Given the description of an element on the screen output the (x, y) to click on. 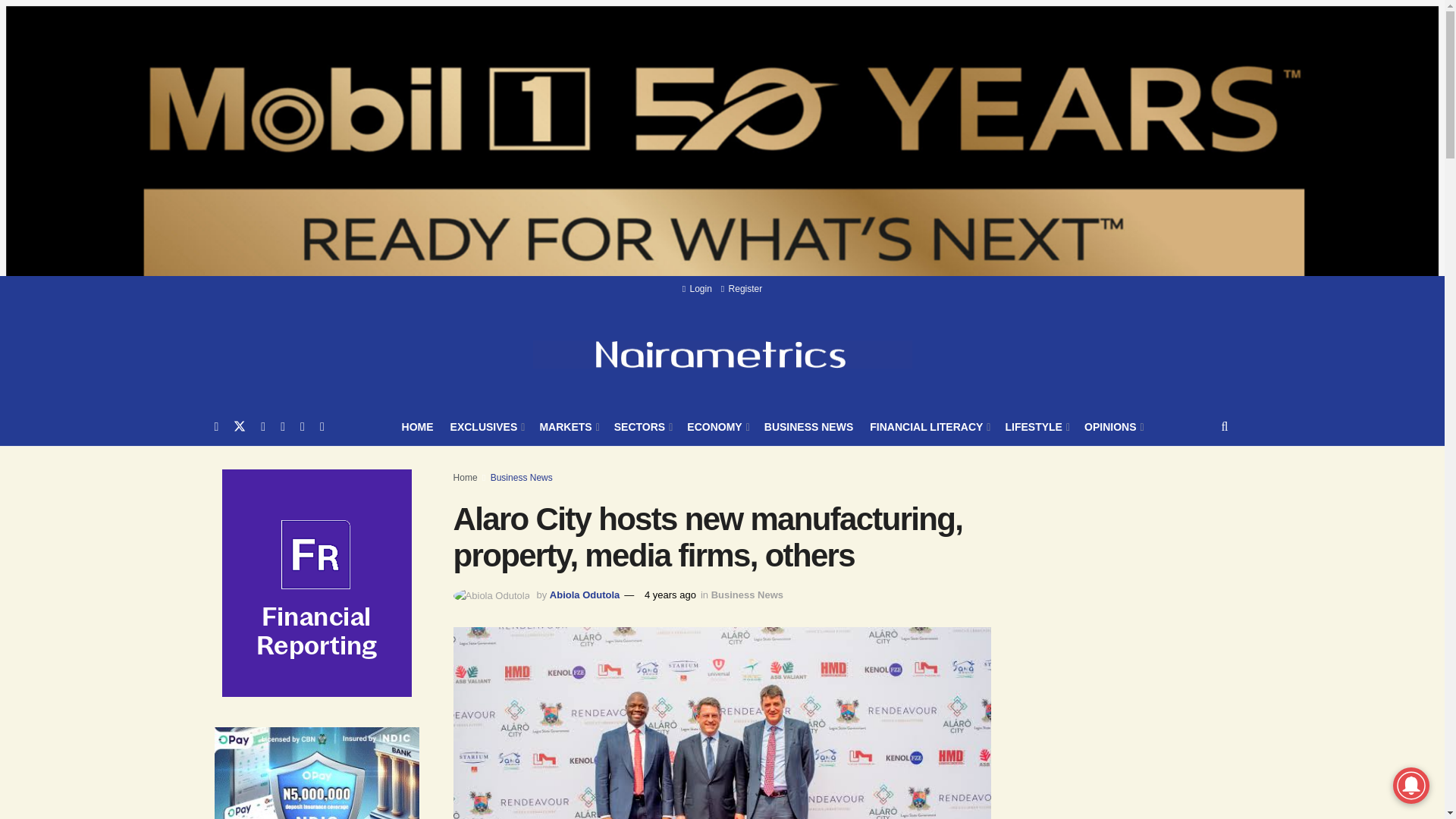
EXCLUSIVES (485, 426)
SECTORS (642, 426)
HOME (417, 426)
Login (696, 289)
MARKETS (567, 426)
Register (740, 289)
Advertisement (1138, 785)
